Given the description of an element on the screen output the (x, y) to click on. 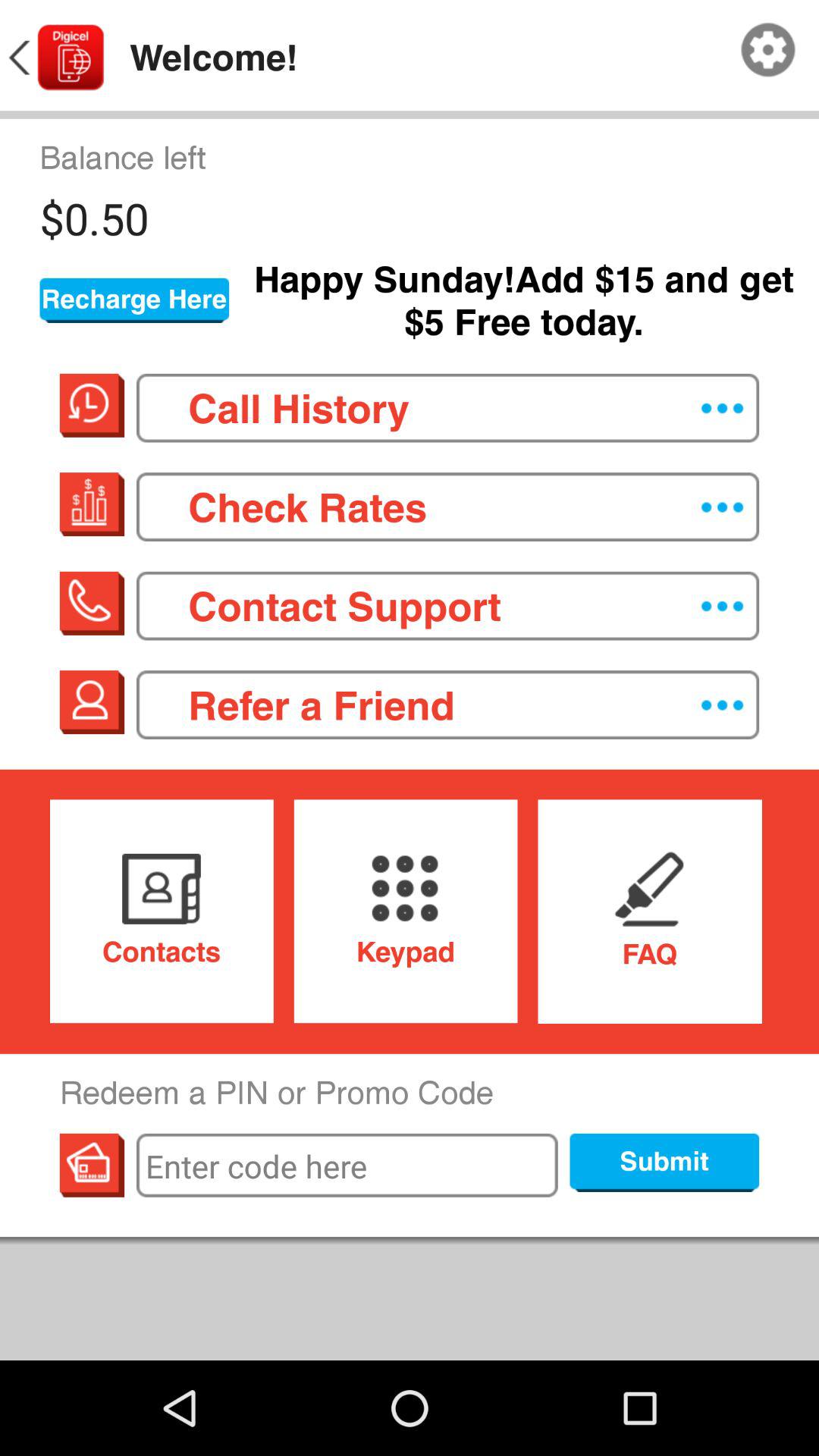
view settings (768, 49)
